Given the description of an element on the screen output the (x, y) to click on. 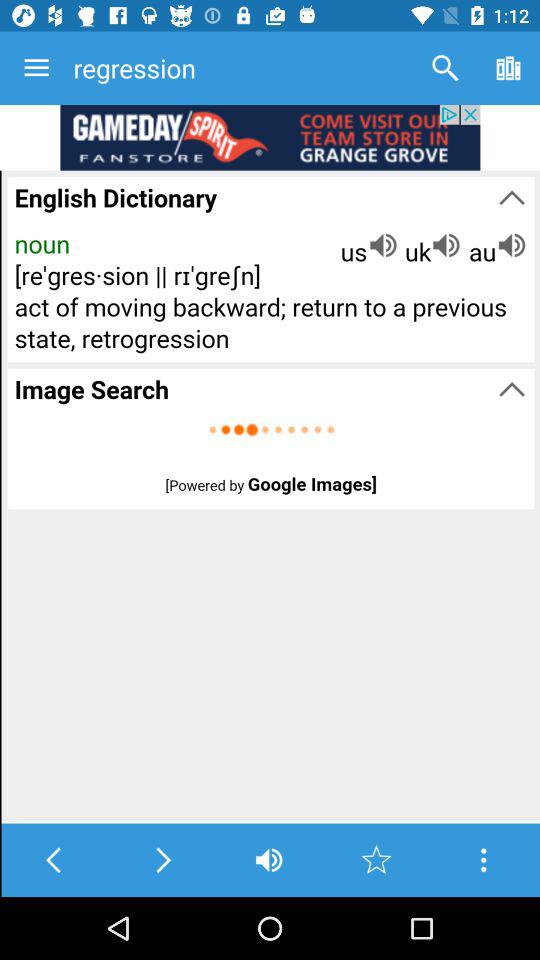
show more options (483, 859)
